Given the description of an element on the screen output the (x, y) to click on. 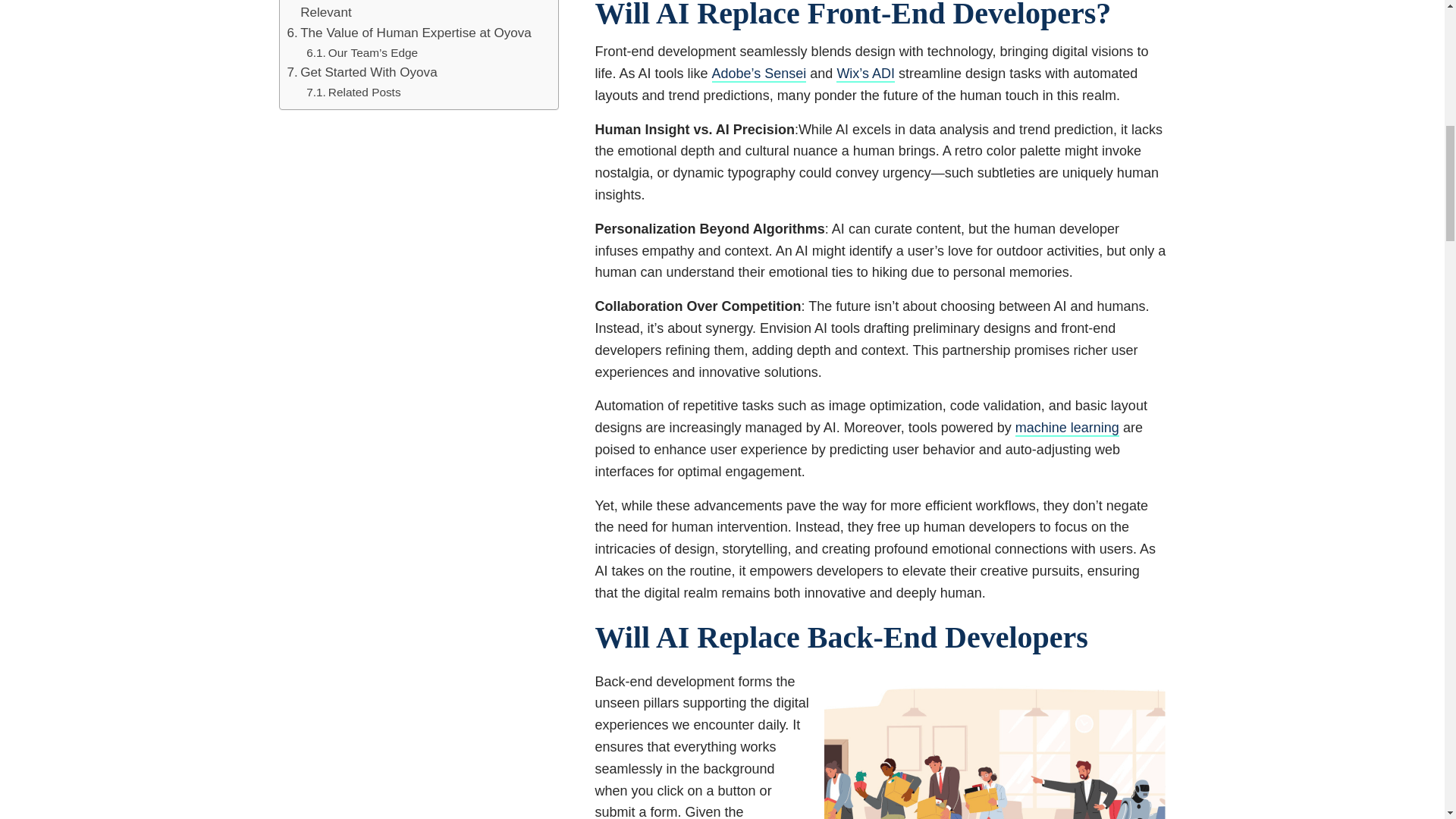
The Value of Human Expertise at Oyova (408, 32)
Related Posts (352, 92)
machine learning (1066, 427)
Adobe's Sensei (758, 73)
Wix's ADI (865, 73)
Staying Ahead: The Key to Staying Relevant (414, 11)
Get Started With Oyova (361, 72)
